Given the description of an element on the screen output the (x, y) to click on. 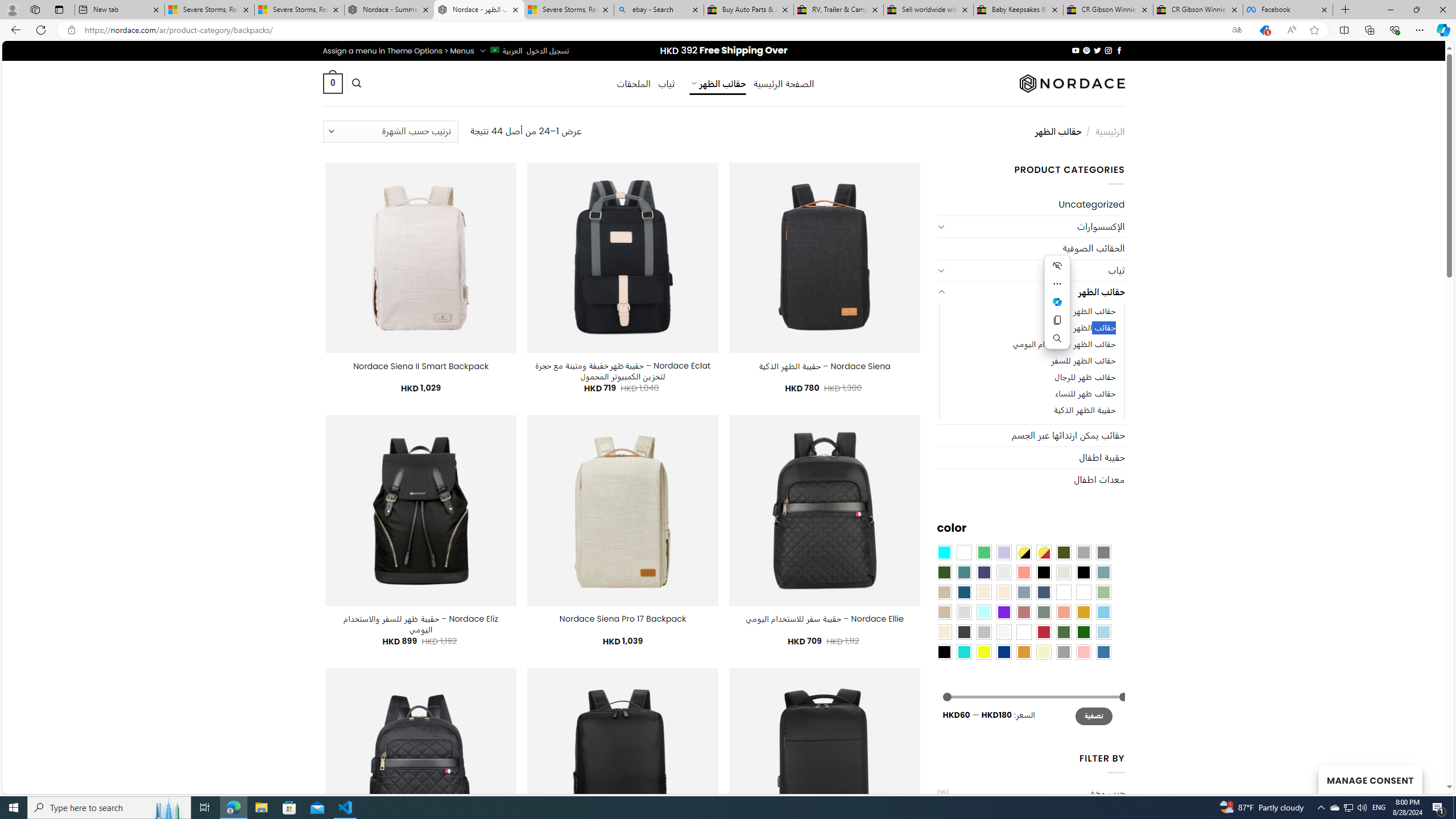
Capri Blue (963, 591)
Purple (1003, 611)
Ask Copilot (1057, 302)
Copy (1057, 320)
Forest (944, 572)
All Black (1043, 572)
Mini menu on text selection (1056, 308)
